Given the description of an element on the screen output the (x, y) to click on. 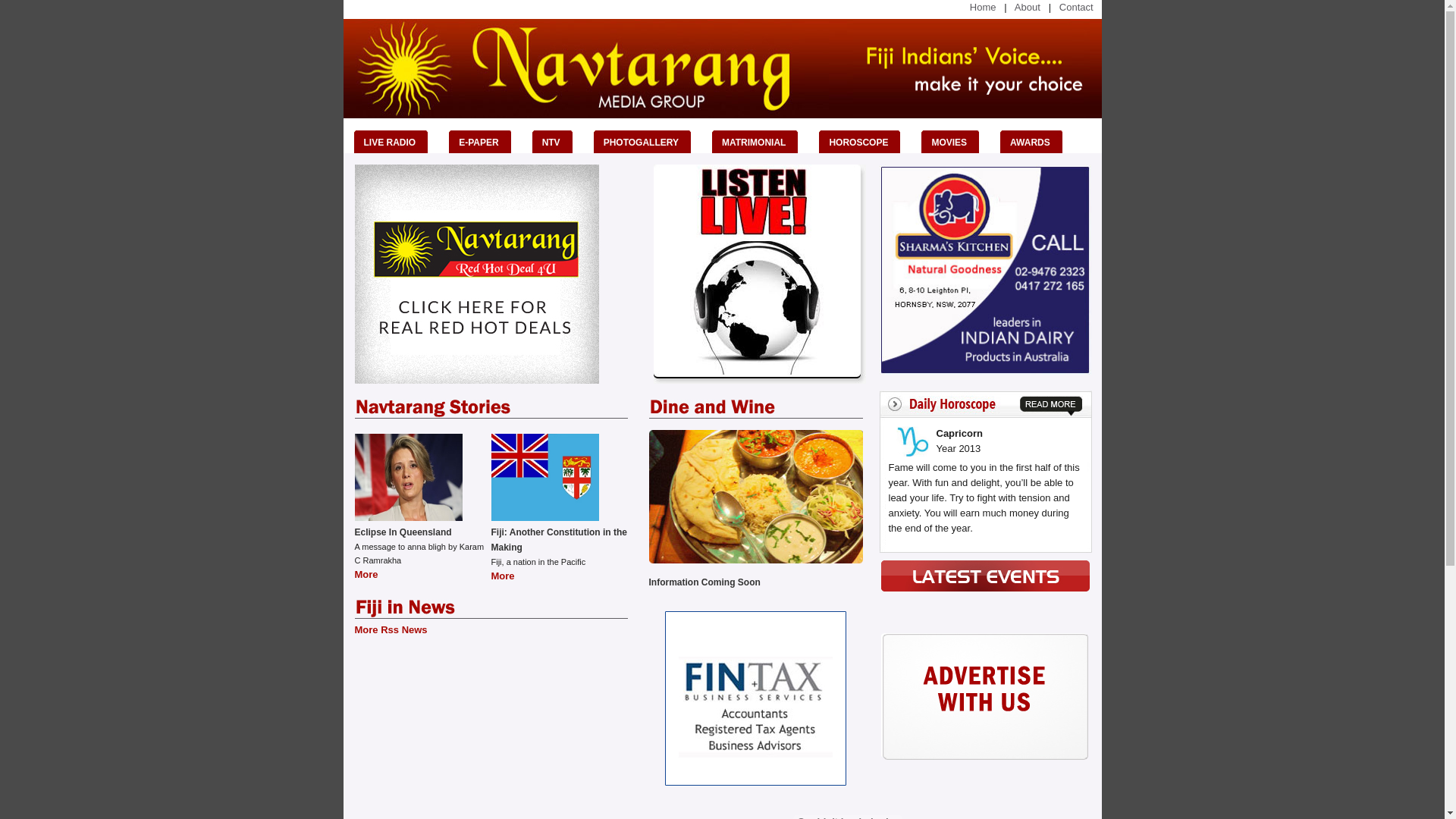
Listen Live! Element type: hover (759, 273)
E-PAPER Element type: text (484, 141)
More Element type: text (366, 574)
Fiji in News Element type: hover (404, 608)
MOVIES Element type: text (955, 141)
HOROSCOPE Element type: text (864, 141)
About Element type: text (1027, 6)
Dine and Wine Element type: hover (712, 407)
Read More Element type: hover (1050, 405)
Contact    Element type: text (1080, 6)
MATRIMONIAL Element type: text (759, 141)
PHOTOGALLERY Element type: text (646, 141)
LIVE RADIO Element type: text (396, 141)
Home Element type: text (982, 6)
NTV Element type: text (557, 141)
AWARDS Element type: text (1036, 141)
More Element type: text (502, 575)
Navtarang Stories Element type: hover (432, 407)
More Rss News Element type: text (390, 629)
